Given the description of an element on the screen output the (x, y) to click on. 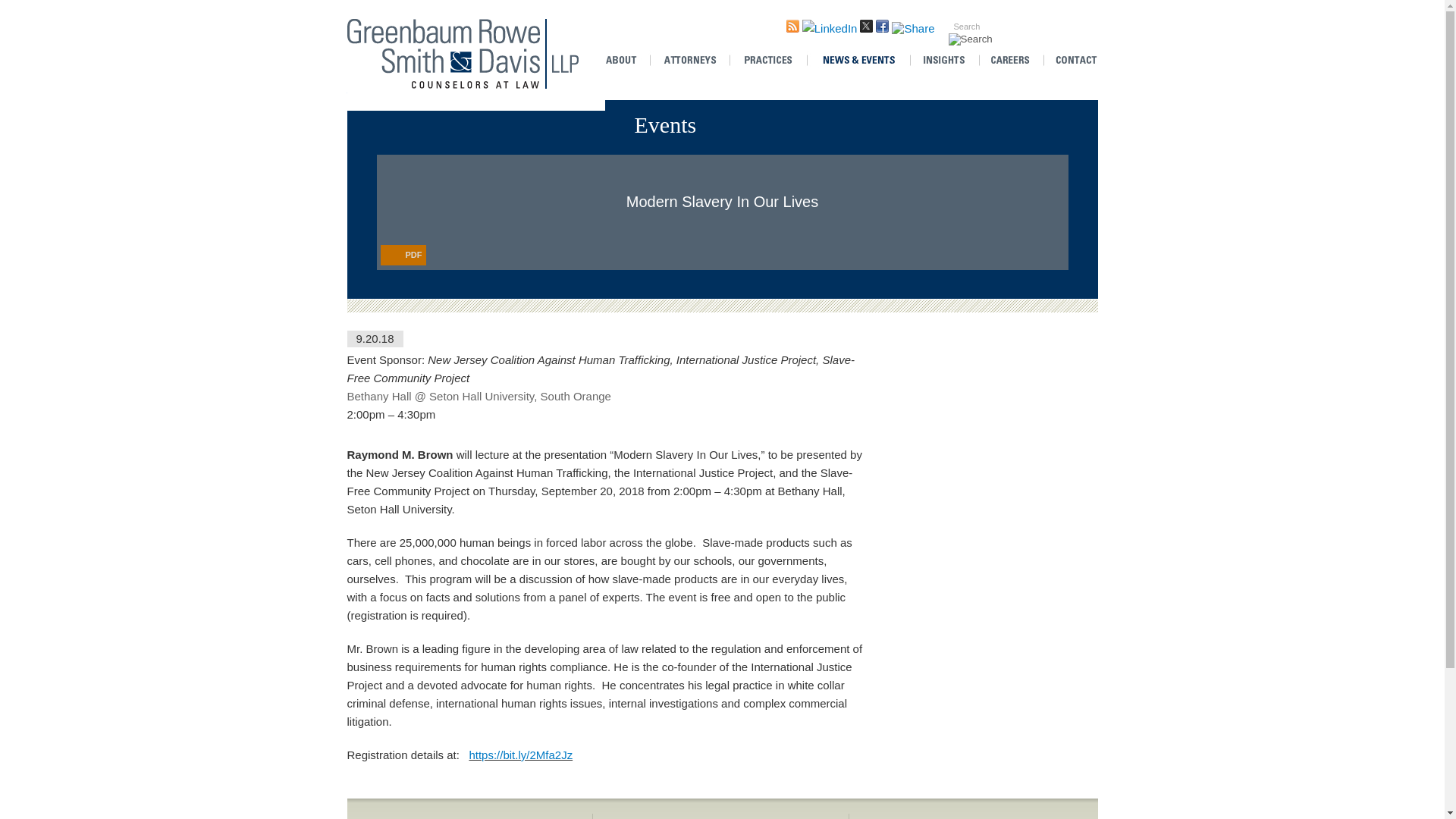
Attorneys (689, 60)
About (626, 60)
Main Menu (375, 8)
Menu (375, 8)
